Given the description of an element on the screen output the (x, y) to click on. 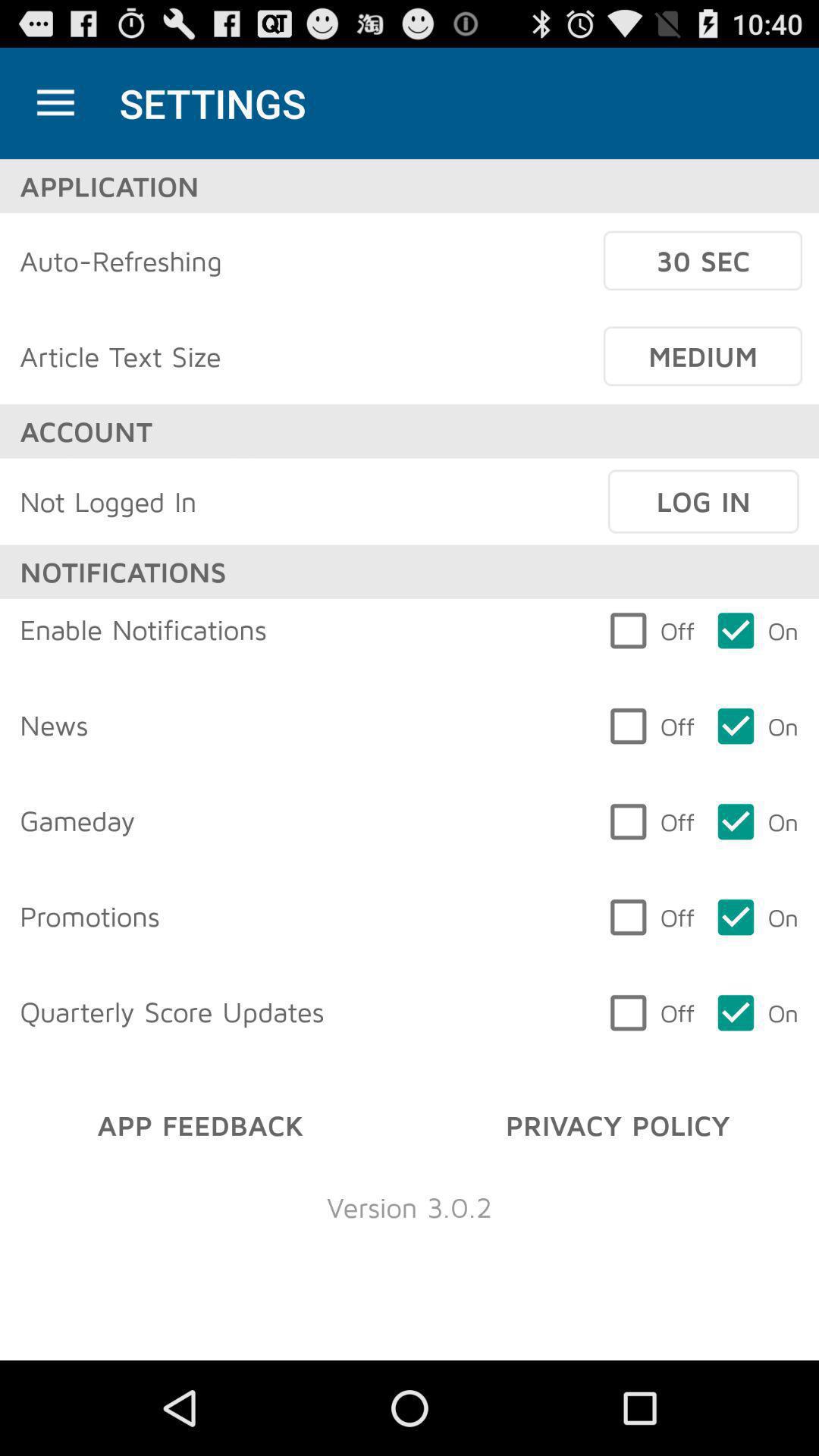
open icon below app feedback item (409, 1206)
